Given the description of an element on the screen output the (x, y) to click on. 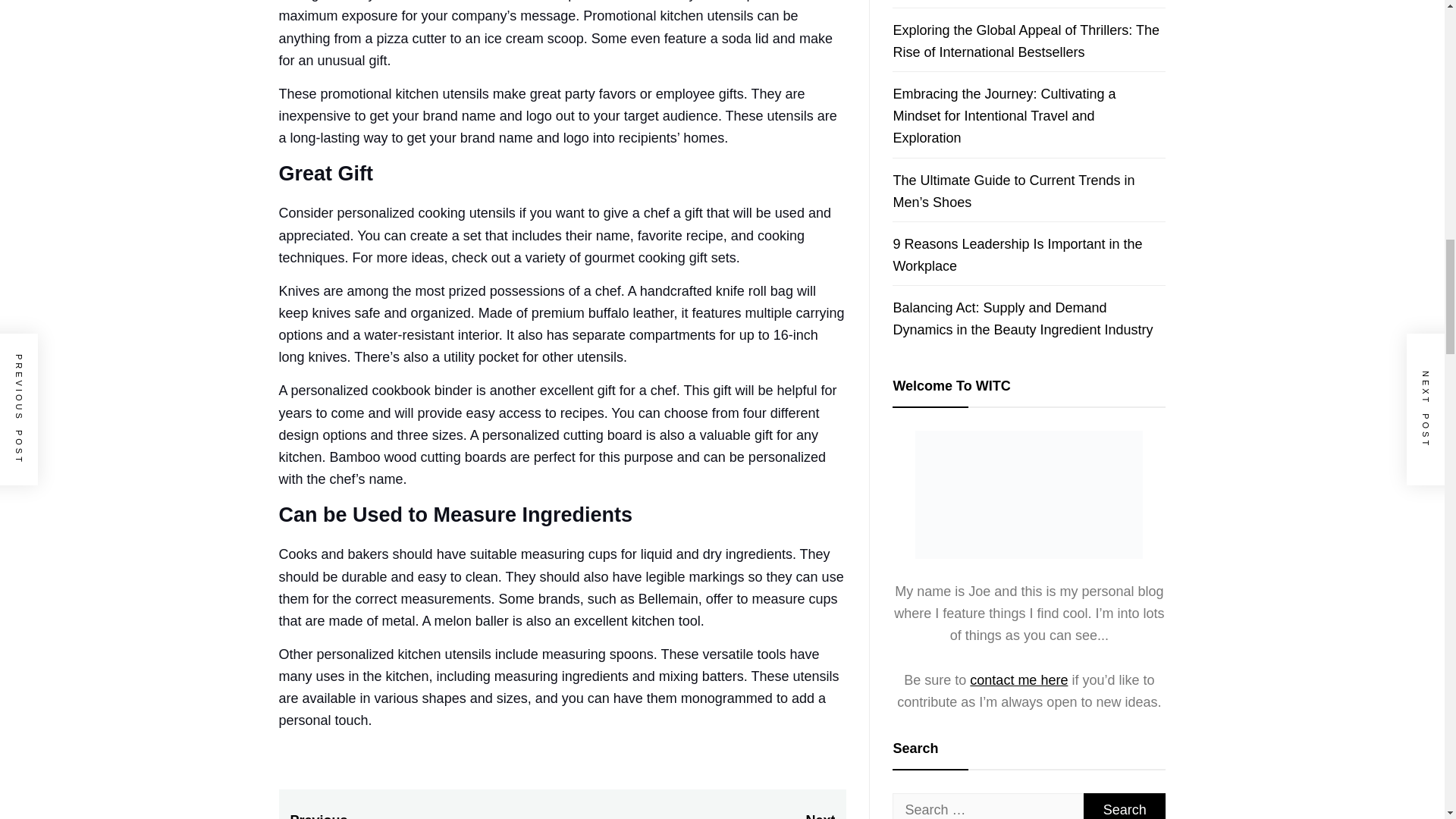
9 Reasons Leadership Is Important in the Workplace (1016, 254)
Search (1124, 806)
Search (1124, 806)
contact me here (1018, 679)
Search (698, 815)
